Given the description of an element on the screen output the (x, y) to click on. 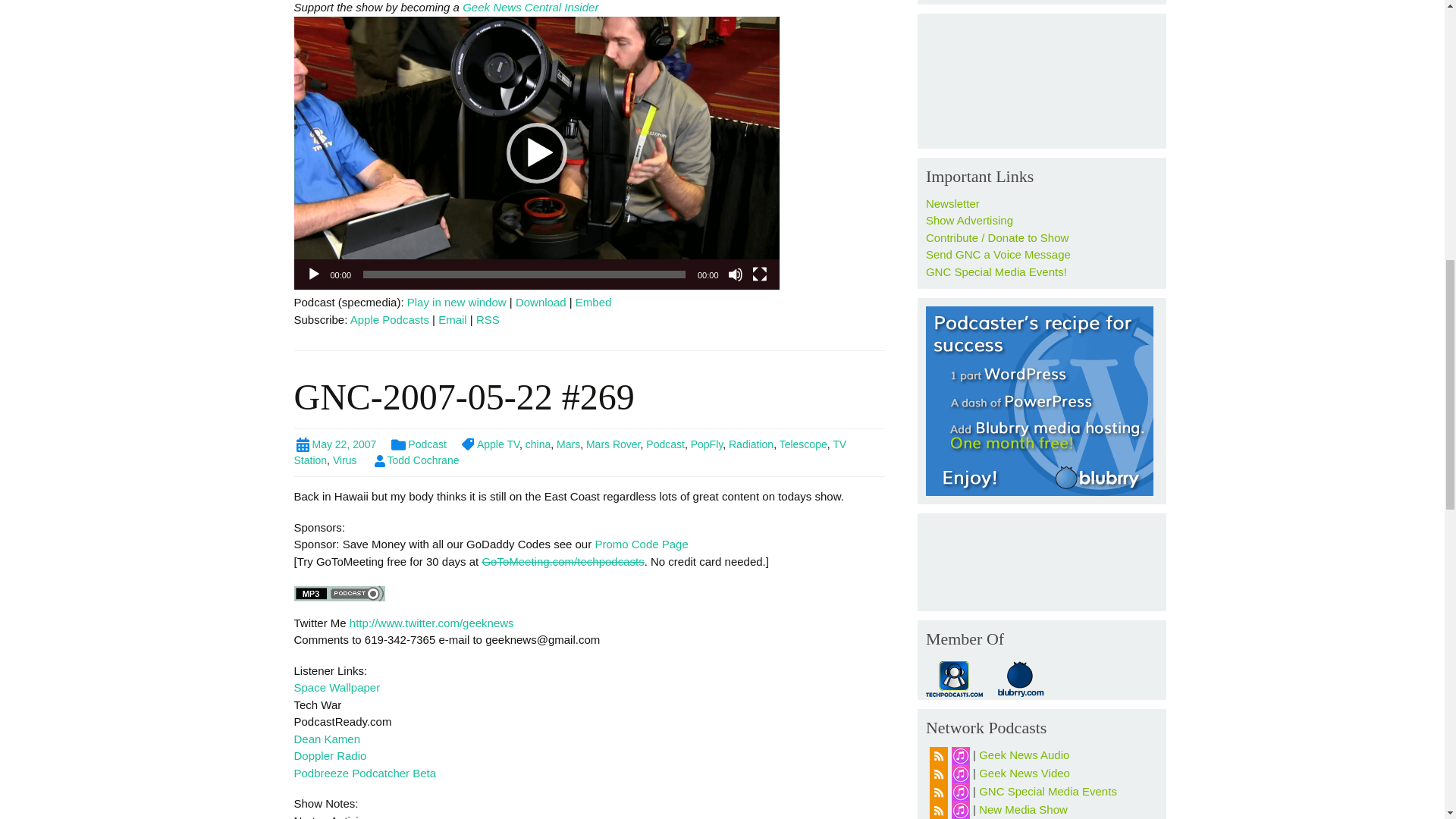
Mute (735, 273)
Download (540, 301)
Fullscreen (759, 273)
View all posts by Todd Cochrane (416, 460)
Play in new window (456, 301)
Subscribe via RSS (487, 318)
Subscribe by Email (452, 318)
Play (313, 273)
Subscribe on Apple Podcasts (389, 318)
Embed (593, 301)
